Given the description of an element on the screen output the (x, y) to click on. 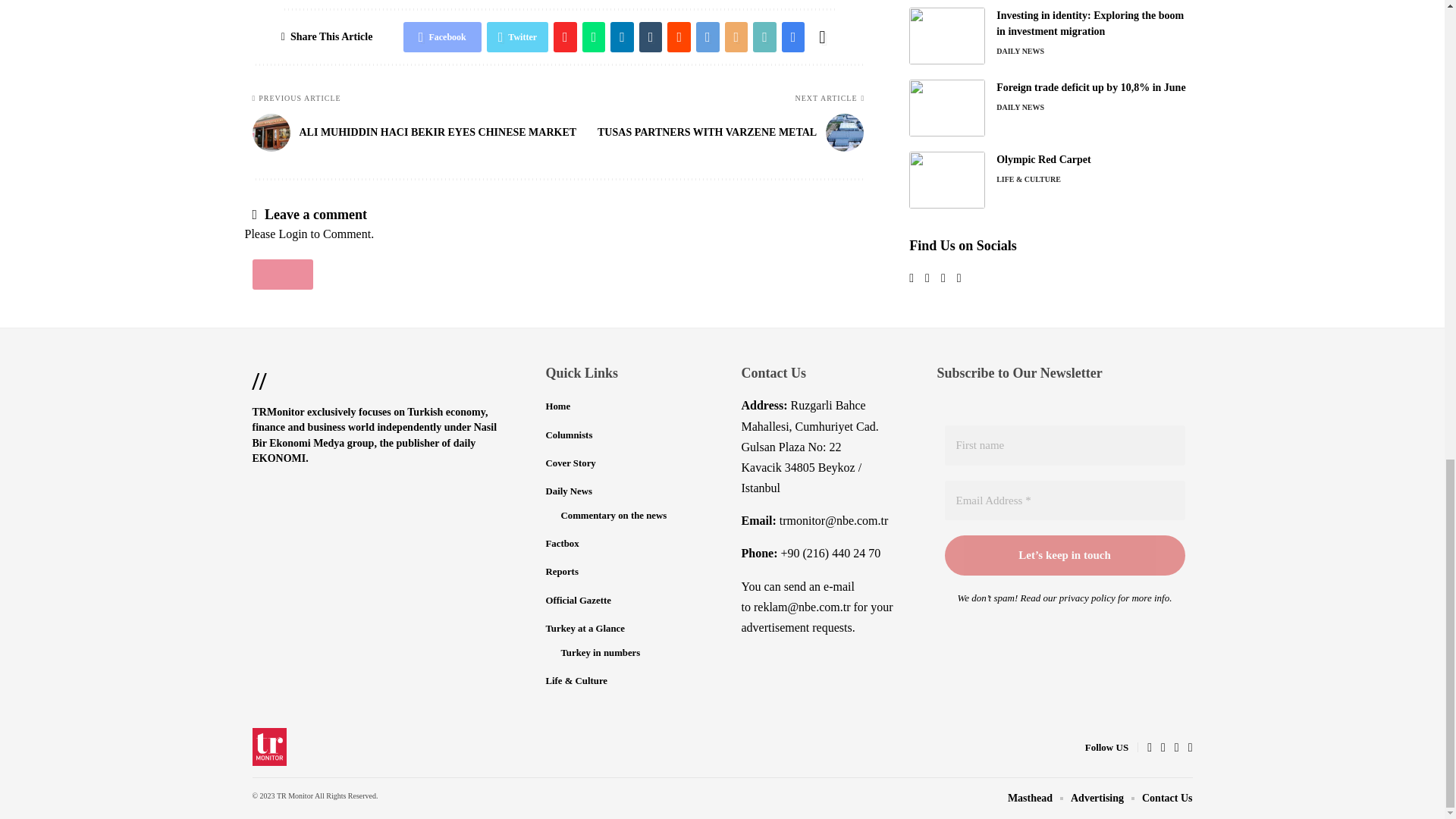
TR MONITOR (268, 746)
First name (1064, 445)
Email Address (1064, 500)
